Given the description of an element on the screen output the (x, y) to click on. 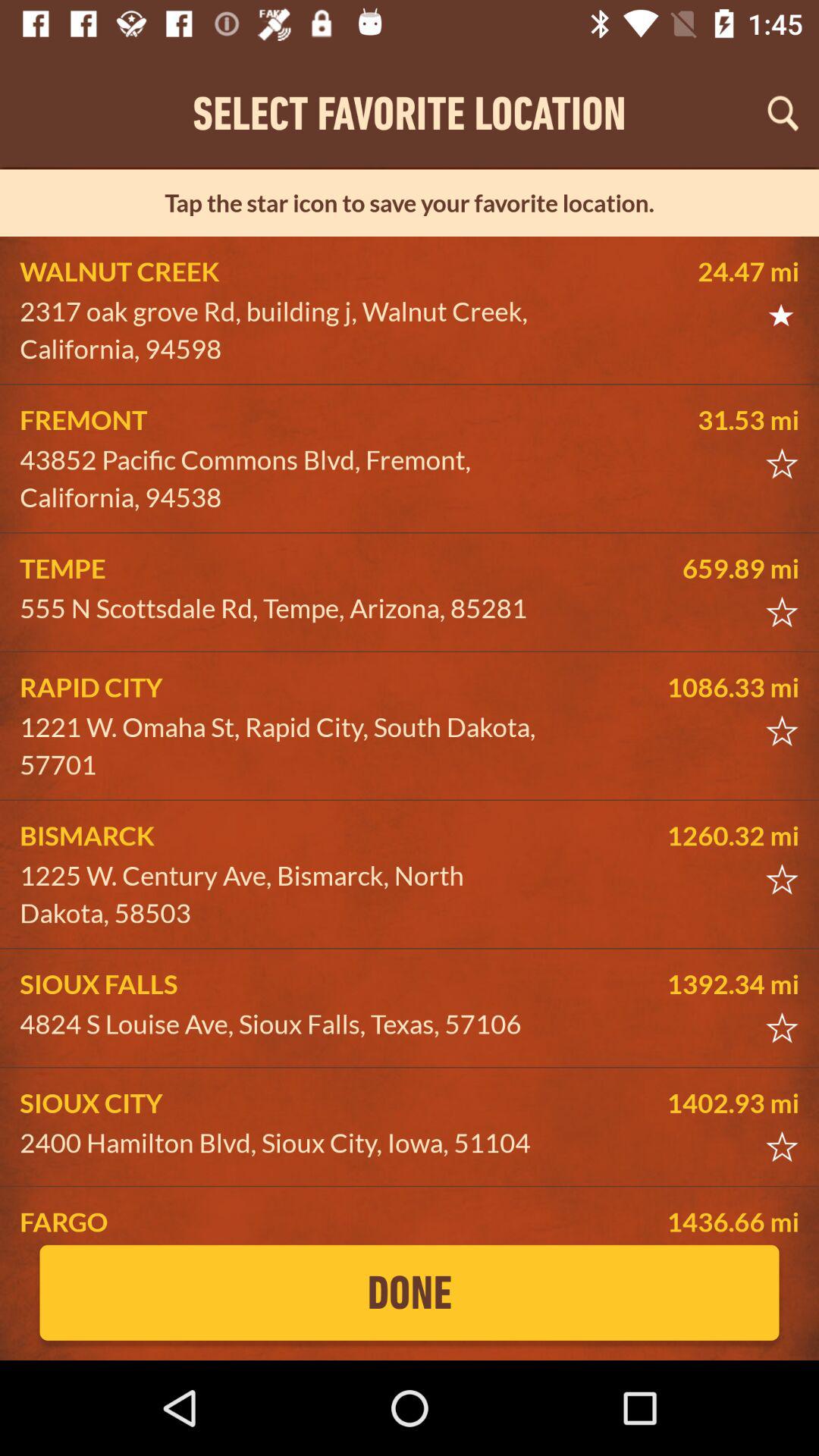
tap the item next to fremont (685, 419)
